Given the description of an element on the screen output the (x, y) to click on. 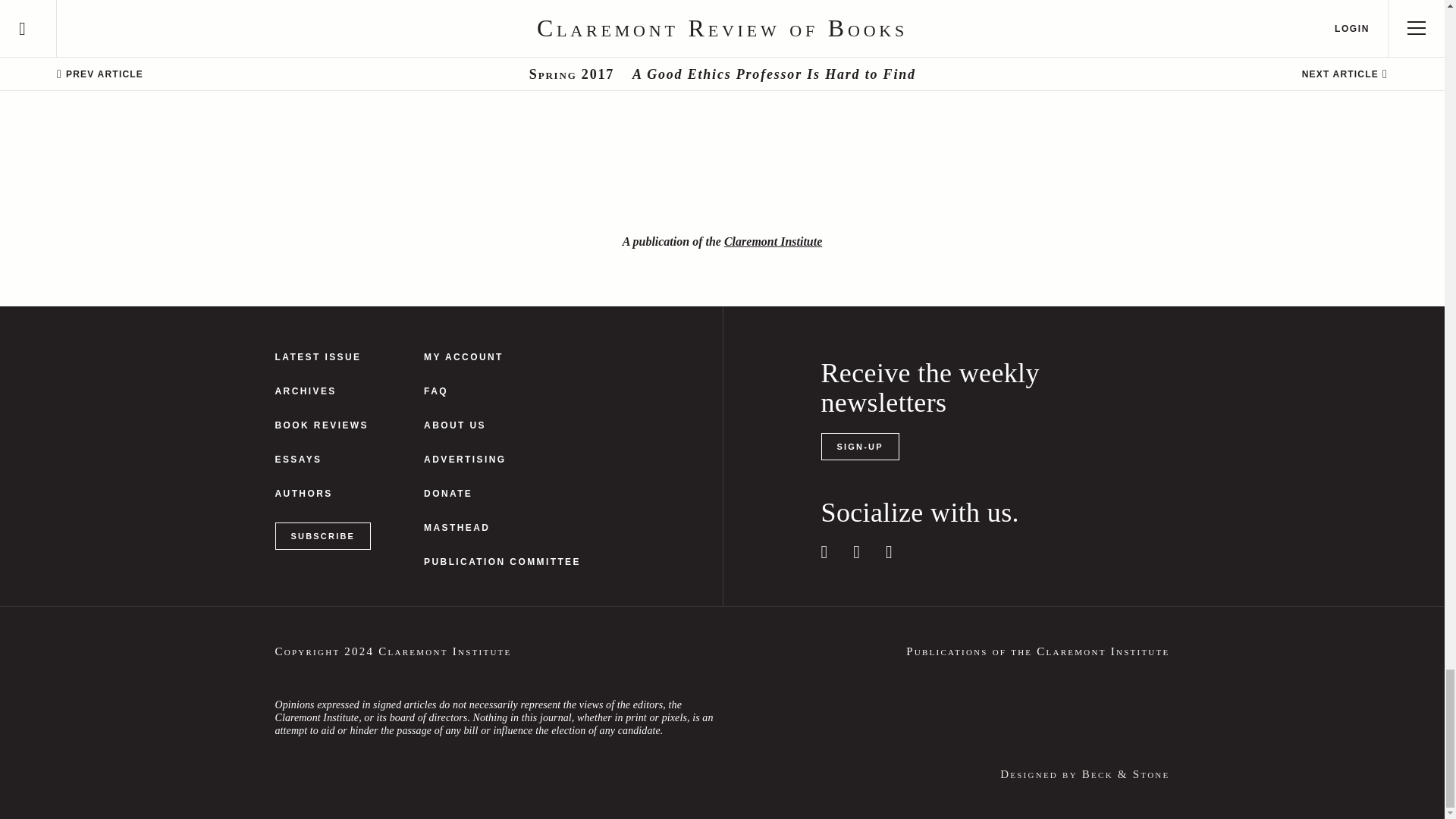
Spring 2024 (323, 357)
